Given the description of an element on the screen output the (x, y) to click on. 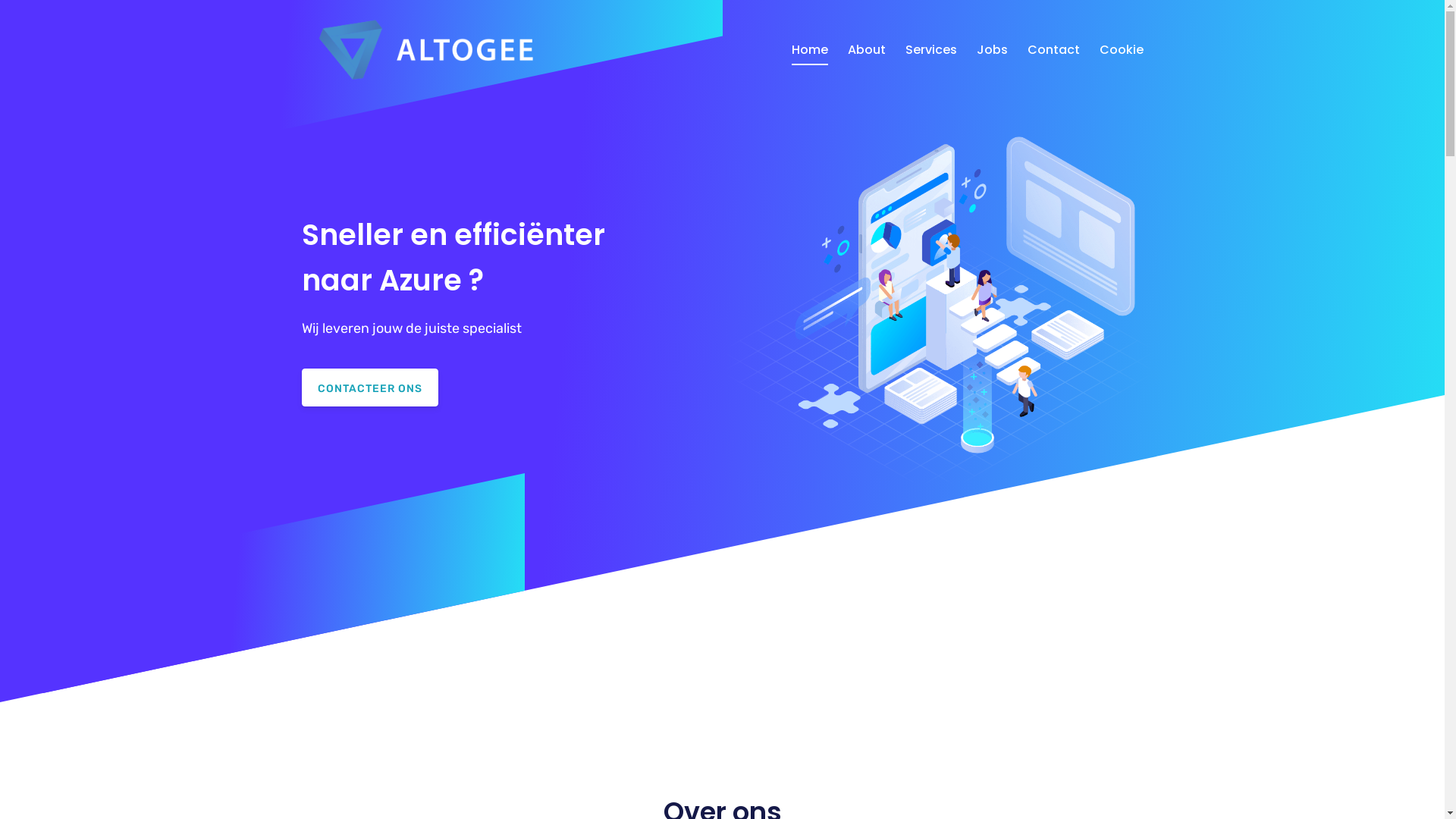
Home Element type: text (809, 49)
Contact Element type: text (1052, 49)
Services Element type: text (931, 49)
About Element type: text (866, 49)
Jobs Element type: text (991, 49)
CONTACTEER ONS Element type: text (369, 387)
Cookie Element type: text (1121, 49)
